Given the description of an element on the screen output the (x, y) to click on. 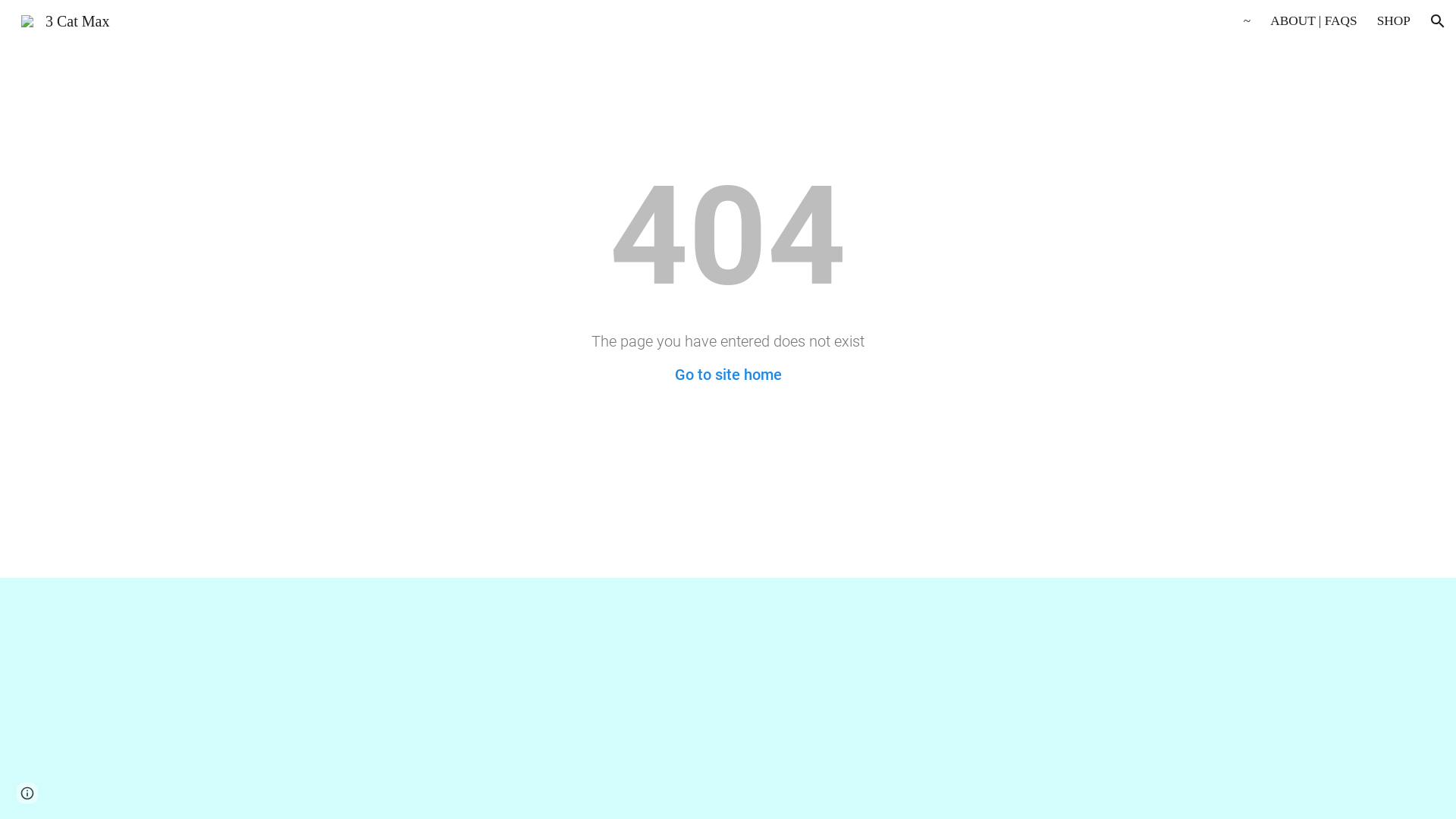
Go to site home Element type: text (727, 374)
ABOUT | FAQS Element type: text (1313, 20)
~ Element type: text (1246, 20)
3 Cat Max Element type: text (65, 19)
SHOP Element type: text (1393, 20)
